Given the description of an element on the screen output the (x, y) to click on. 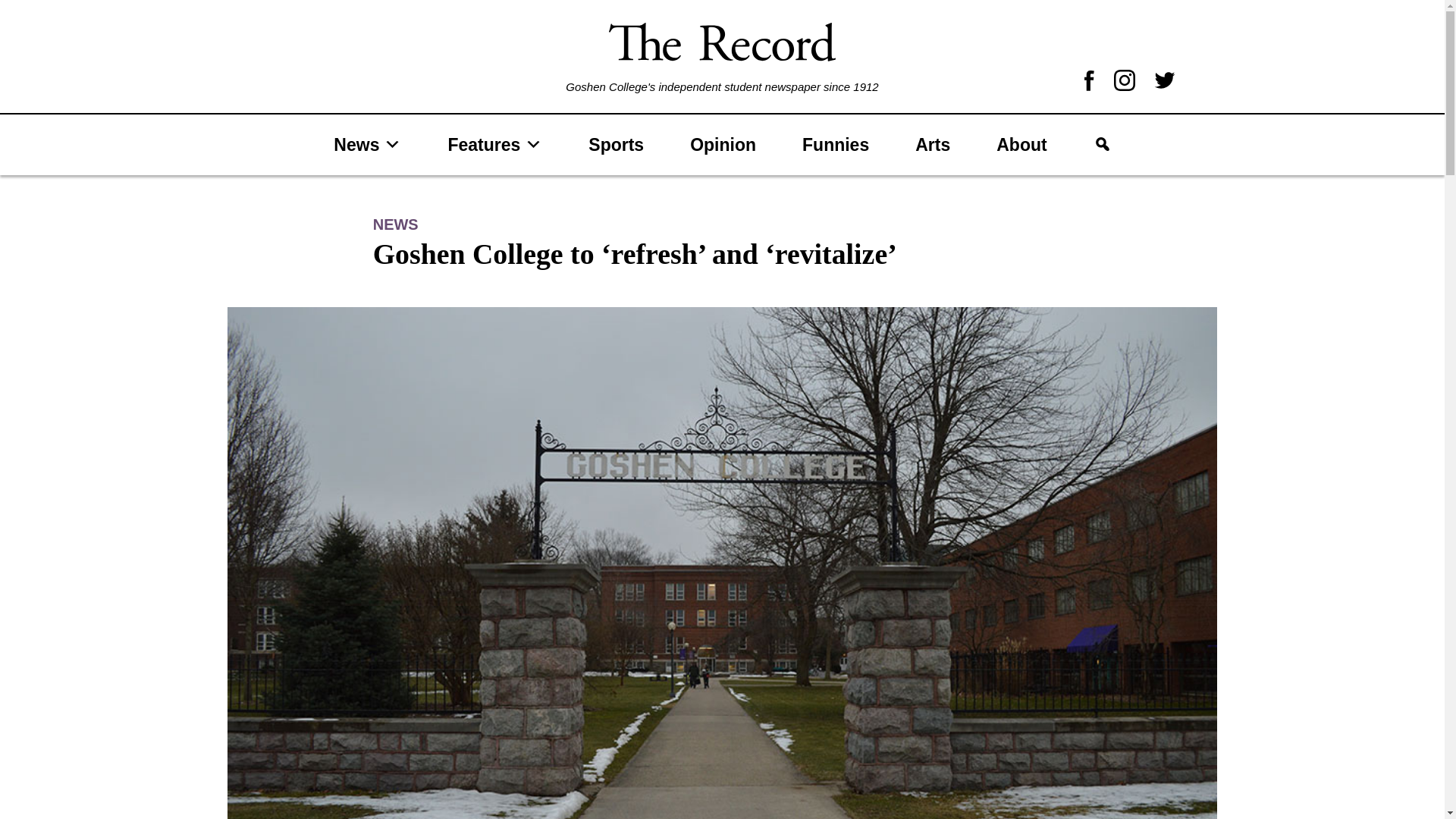
Arts (932, 144)
About (1021, 144)
Features (494, 144)
News (367, 144)
Funnies (834, 144)
Sports (616, 144)
Opinion (722, 144)
